Given the description of an element on the screen output the (x, y) to click on. 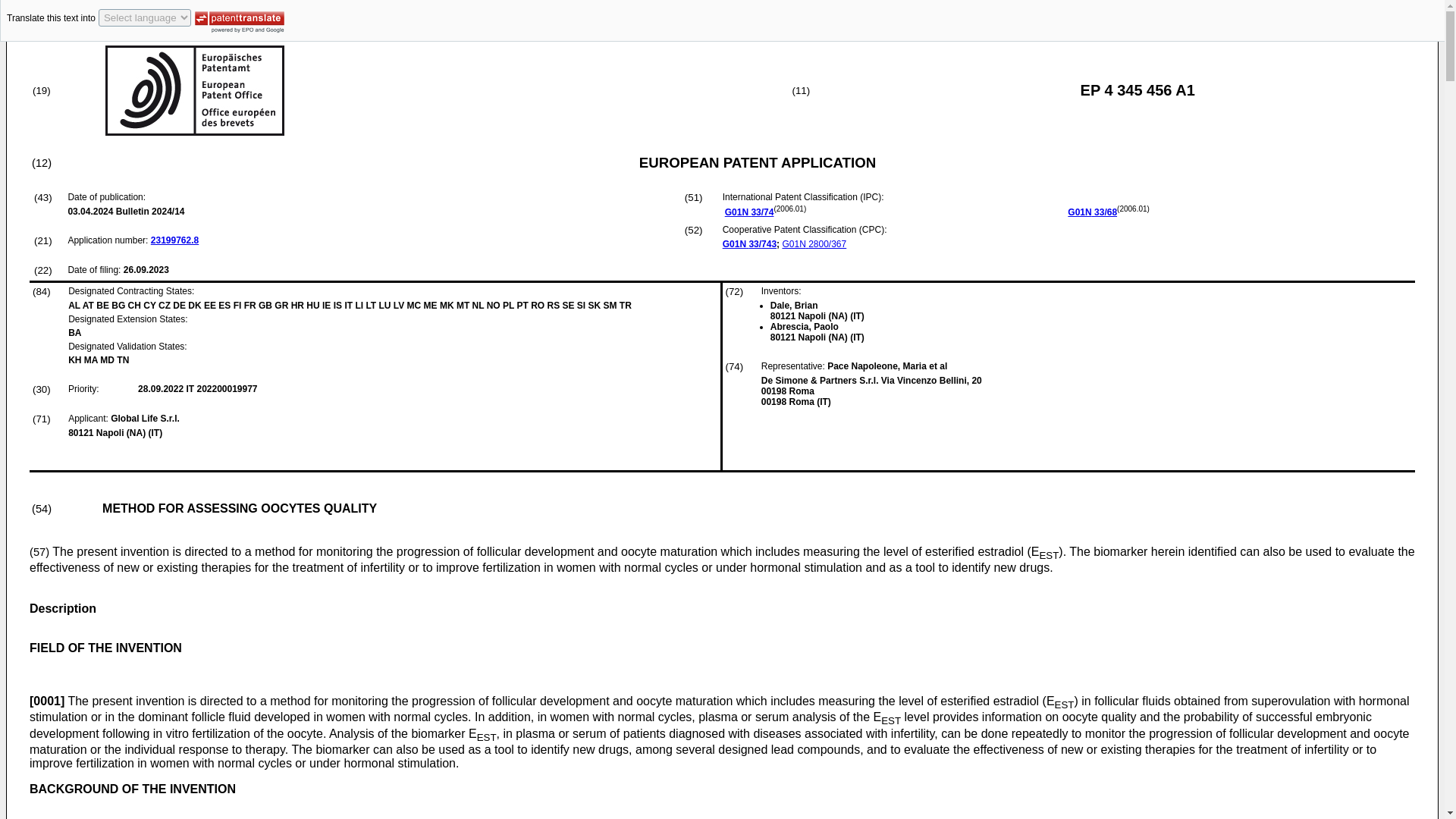
Description (62, 608)
patent translate (239, 18)
23199762.8 (174, 240)
